Given the description of an element on the screen output the (x, y) to click on. 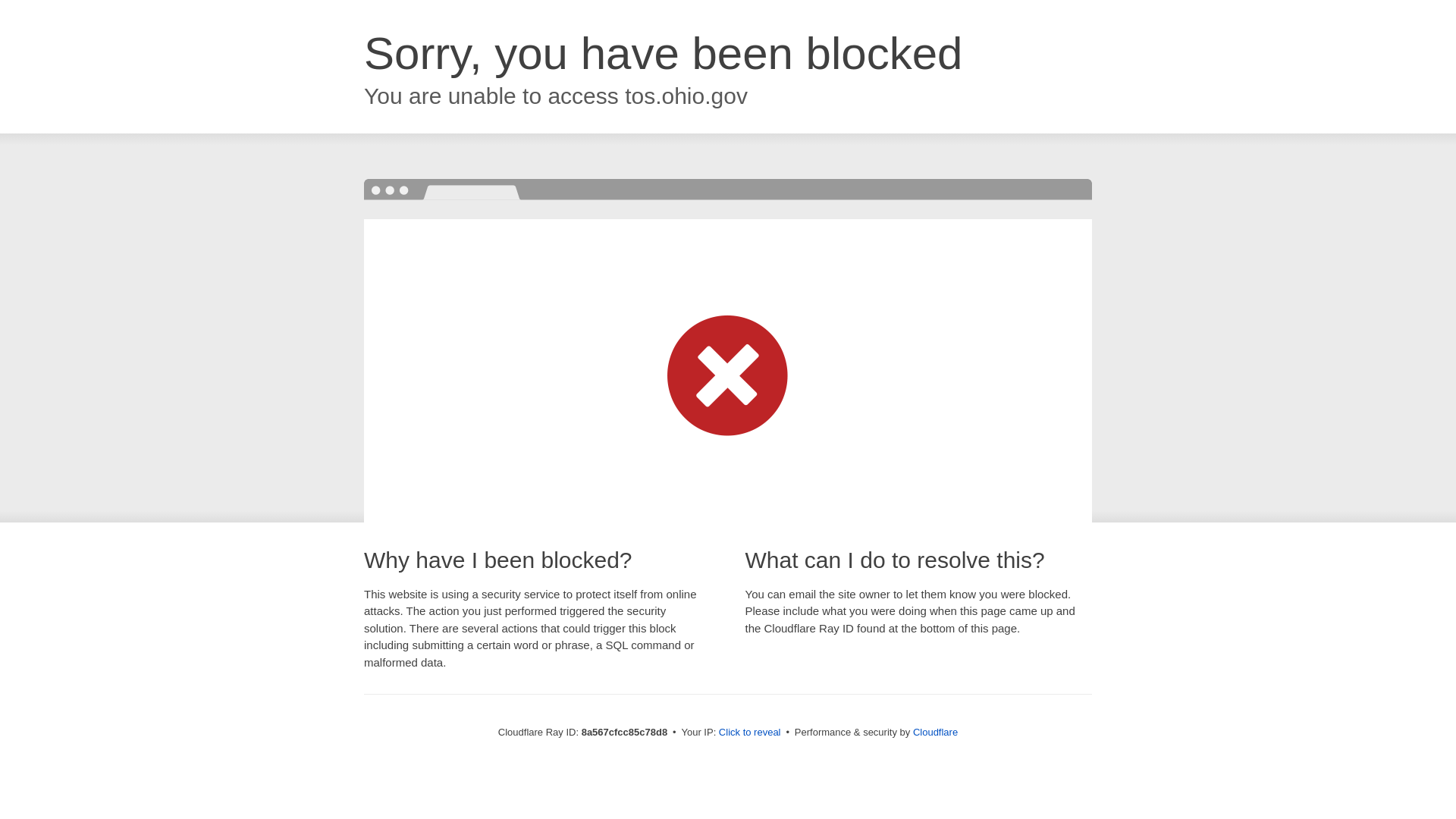
Click to reveal (749, 732)
Cloudflare (935, 731)
